Given the description of an element on the screen output the (x, y) to click on. 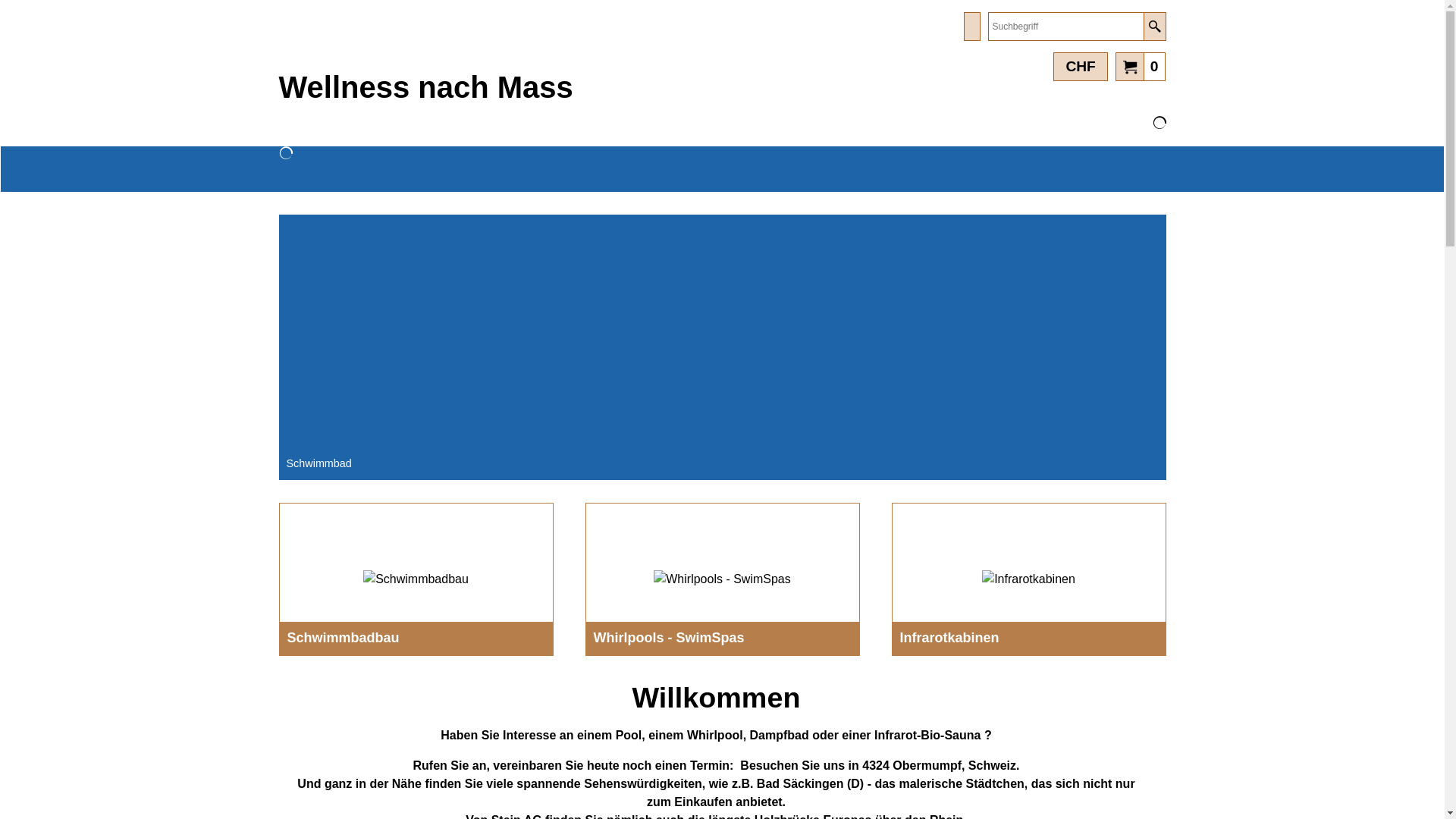
Whirlpools - SwimSpas Element type: hover (721, 579)
Schwimmbadbau Element type: hover (415, 579)
Whirlpools - SwimSpas
Klassisch / Doppelliege / Modern Element type: text (721, 579)
Suche Element type: hover (1154, 26)
CHF Element type: text (1080, 66)
Buwimex Logo Element type: hover (313, 41)
Infrarotkabinen Element type: hover (1028, 579)
Schwimmbadbau
Fertigbecken / Edelstahlbecken Element type: text (415, 579)
0 Element type: text (1140, 65)
